Given the description of an element on the screen output the (x, y) to click on. 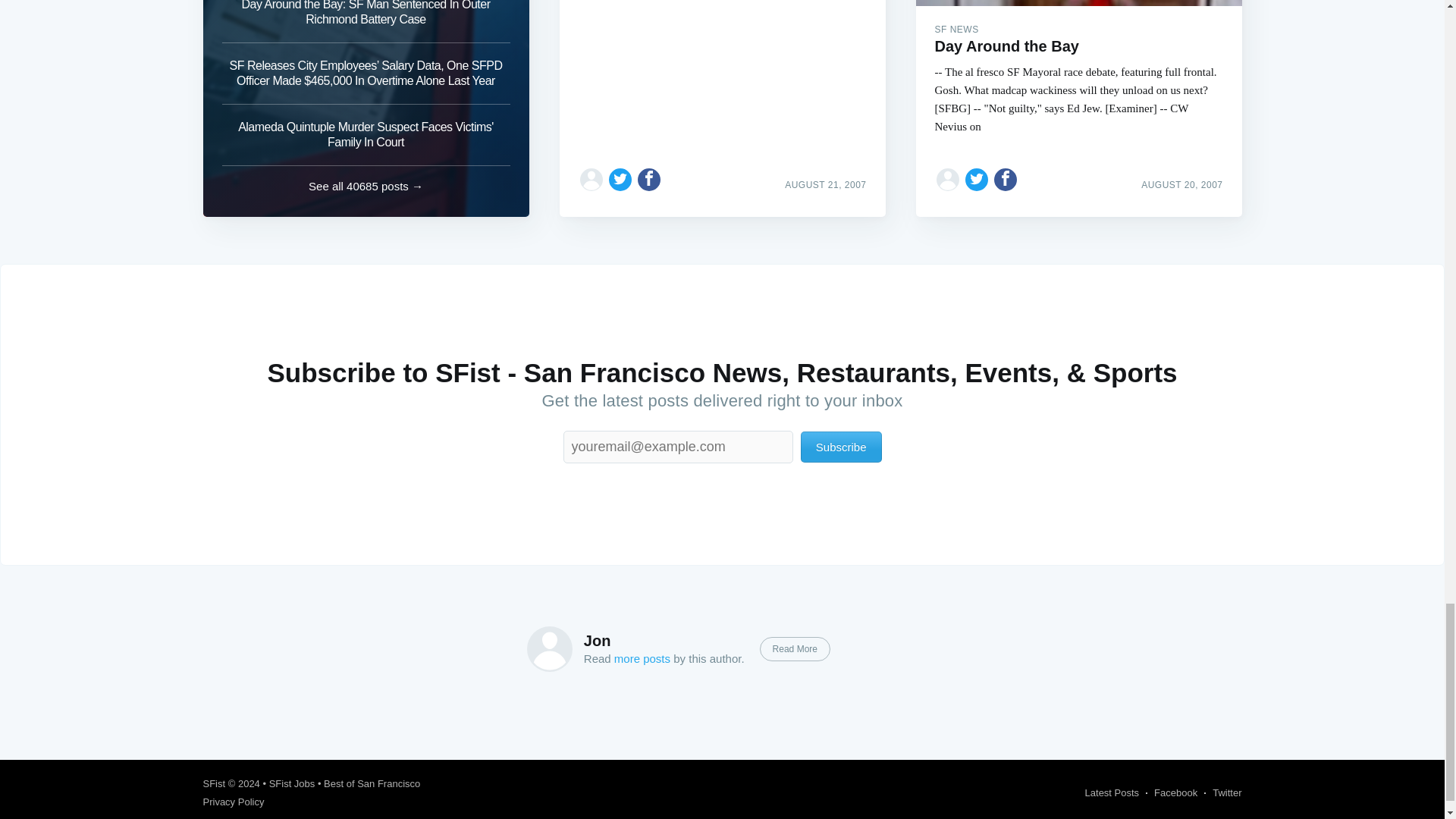
Share on Facebook (649, 179)
Share on Facebook (1004, 179)
Subscribe (841, 446)
Share on Twitter (976, 179)
more posts (641, 658)
Share on Twitter (620, 179)
Jon (597, 640)
